Given the description of an element on the screen output the (x, y) to click on. 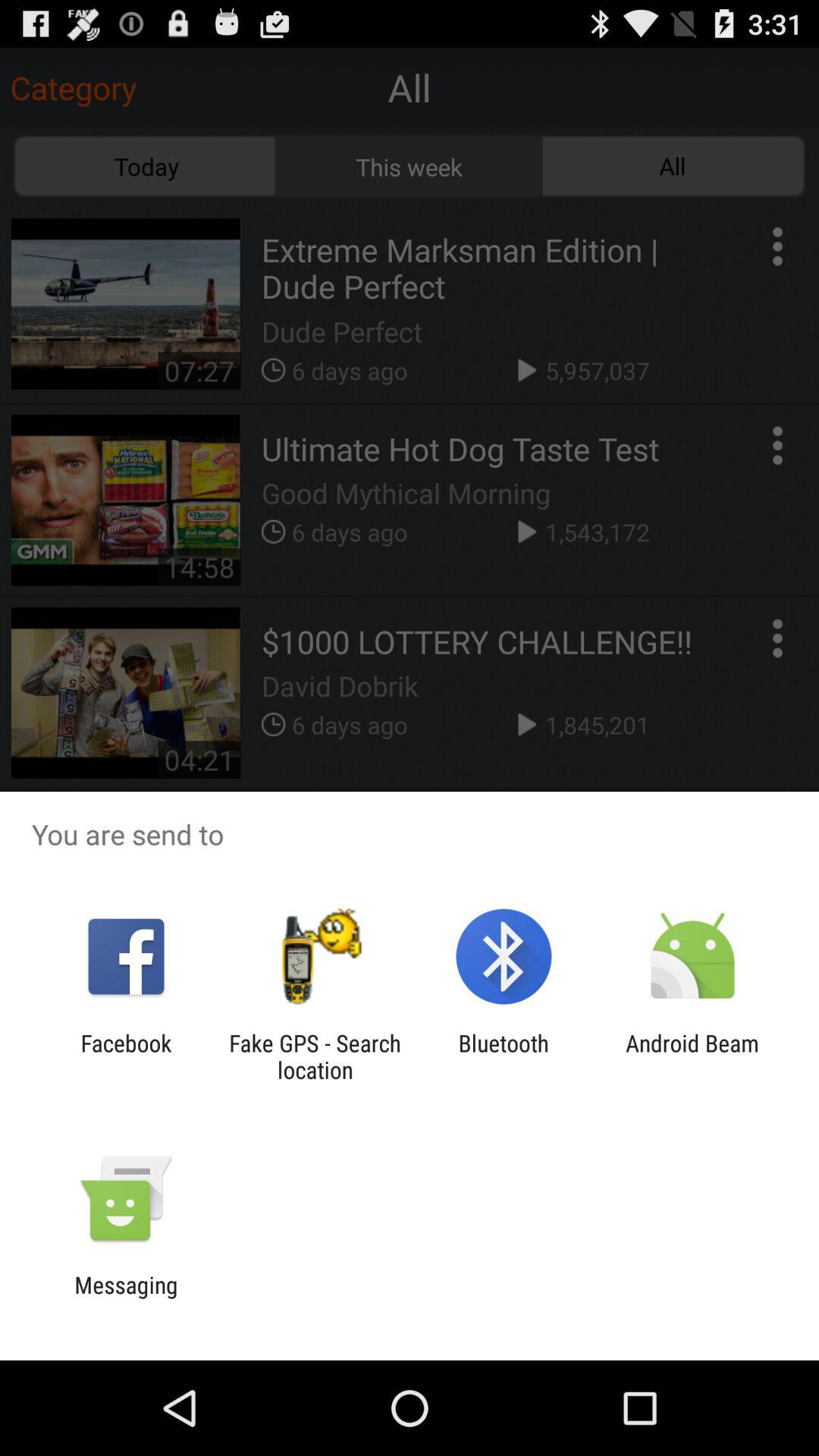
turn on app next to fake gps search (125, 1056)
